Given the description of an element on the screen output the (x, y) to click on. 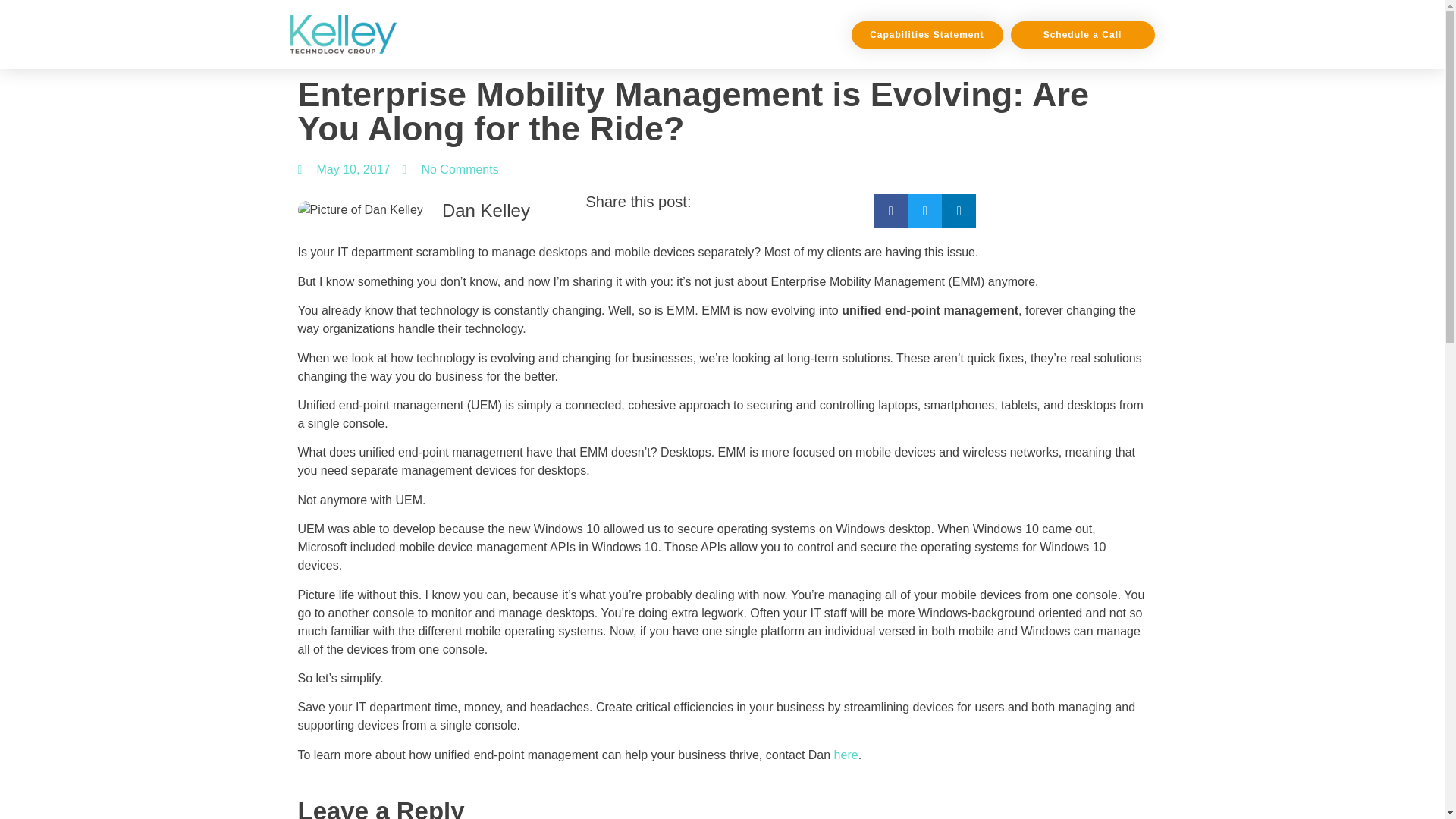
No Comments (449, 169)
here (846, 754)
Capabilities Statement (926, 34)
Schedule a Call (1082, 34)
May 10, 2017 (343, 169)
